Given the description of an element on the screen output the (x, y) to click on. 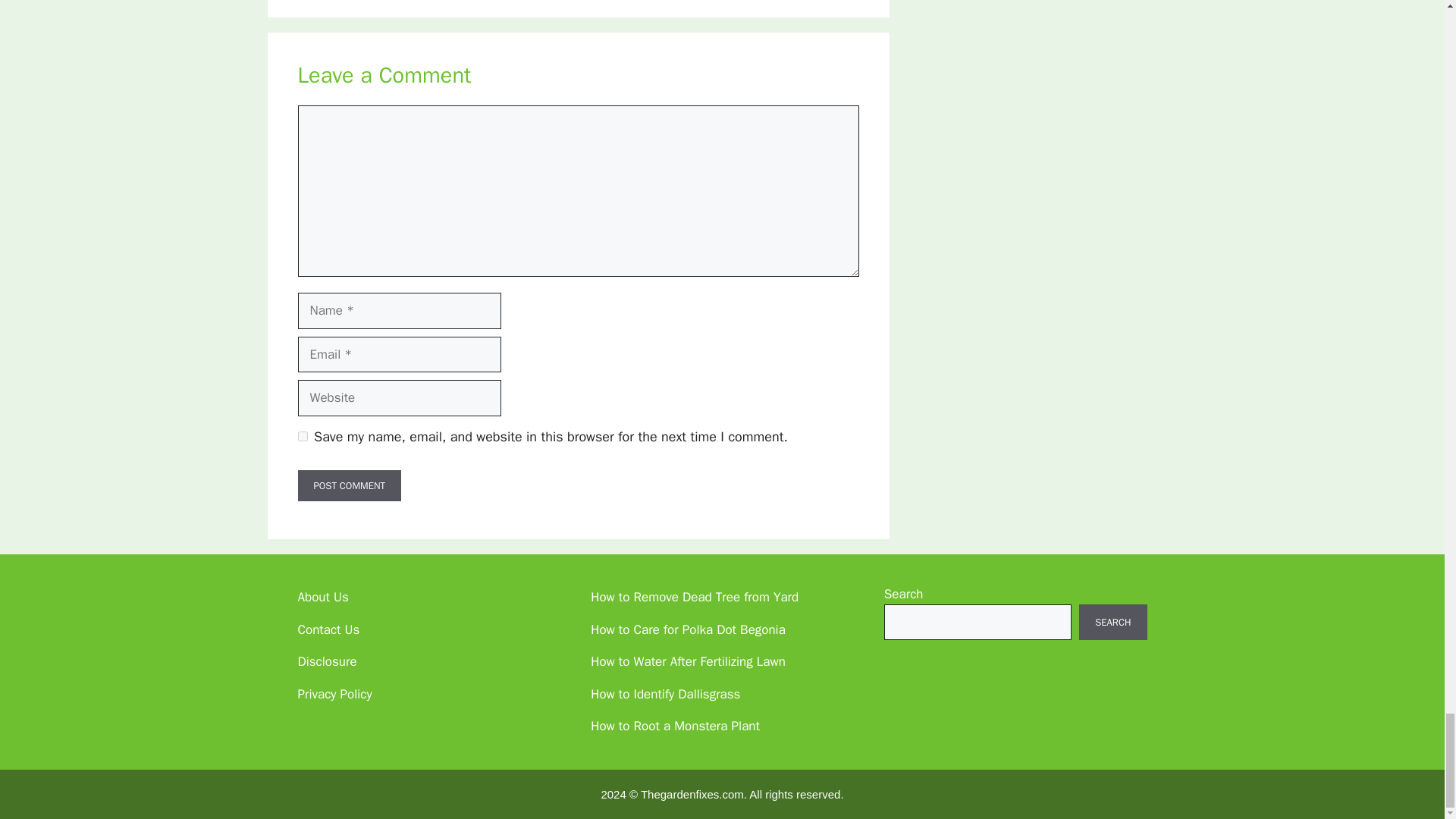
yes (302, 436)
Post Comment (349, 486)
SEARCH (1112, 622)
Privacy Policy (334, 693)
Post Comment (349, 486)
How to Water After Fertilizing Lawn (688, 661)
How to Care for Polka Dot Begonia (688, 629)
Contact Us (328, 629)
How to Identify Dallisgrass (665, 693)
About Us (322, 596)
How to Remove Dead Tree from Yard (694, 596)
Disclosure (326, 661)
How to Root a Monstera Plant (675, 725)
